Given the description of an element on the screen output the (x, y) to click on. 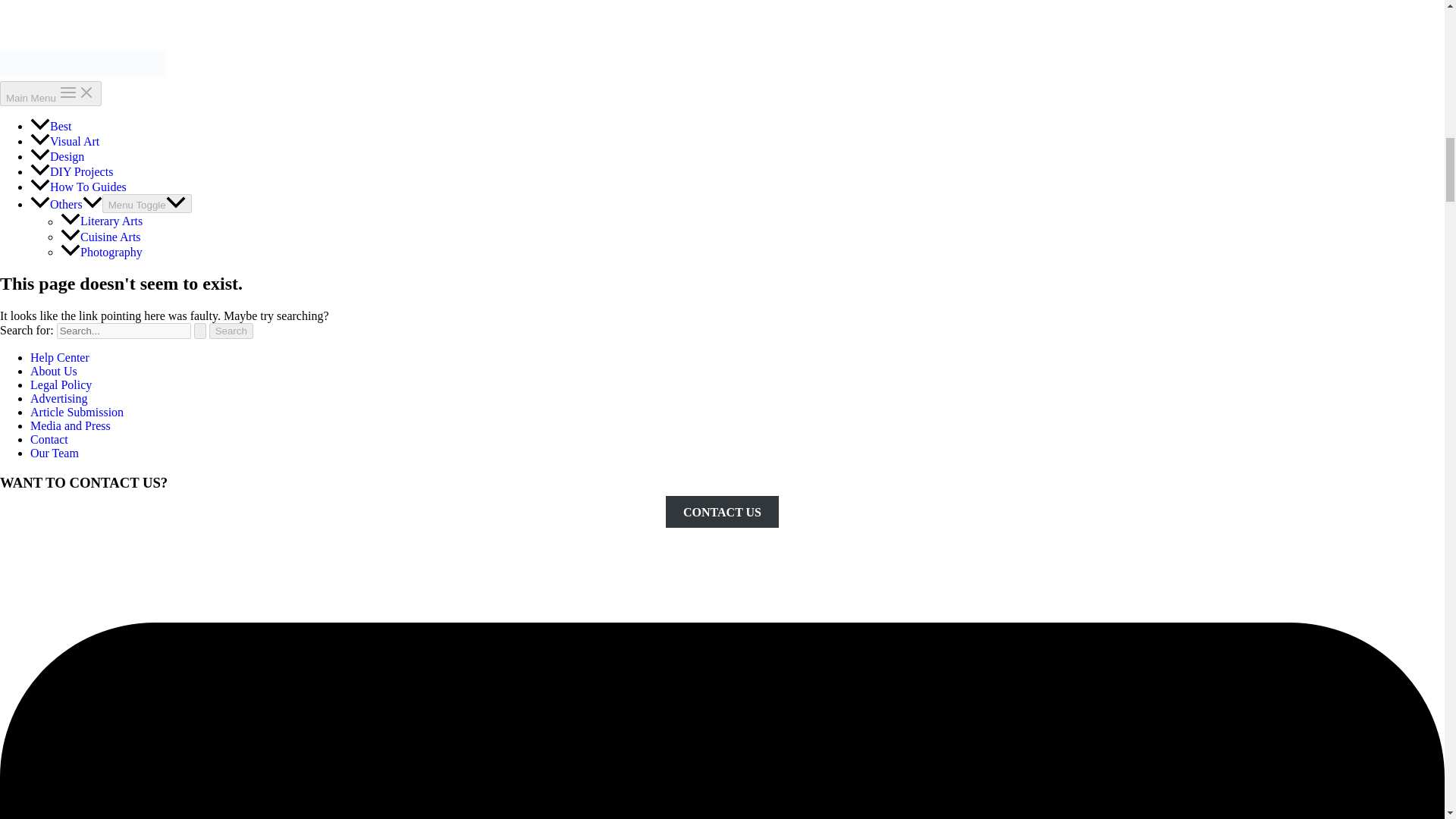
Media and Press (70, 425)
Visual Art (64, 141)
Menu Toggle (146, 203)
Article Submission (76, 411)
Design (57, 155)
Cuisine Arts (101, 236)
Literary Arts (101, 221)
Advertising (58, 398)
Search (231, 330)
Main Menu (50, 93)
How To Guides (78, 186)
Photography (101, 251)
DIY Projects (71, 171)
Best (50, 125)
Contact (49, 439)
